Given the description of an element on the screen output the (x, y) to click on. 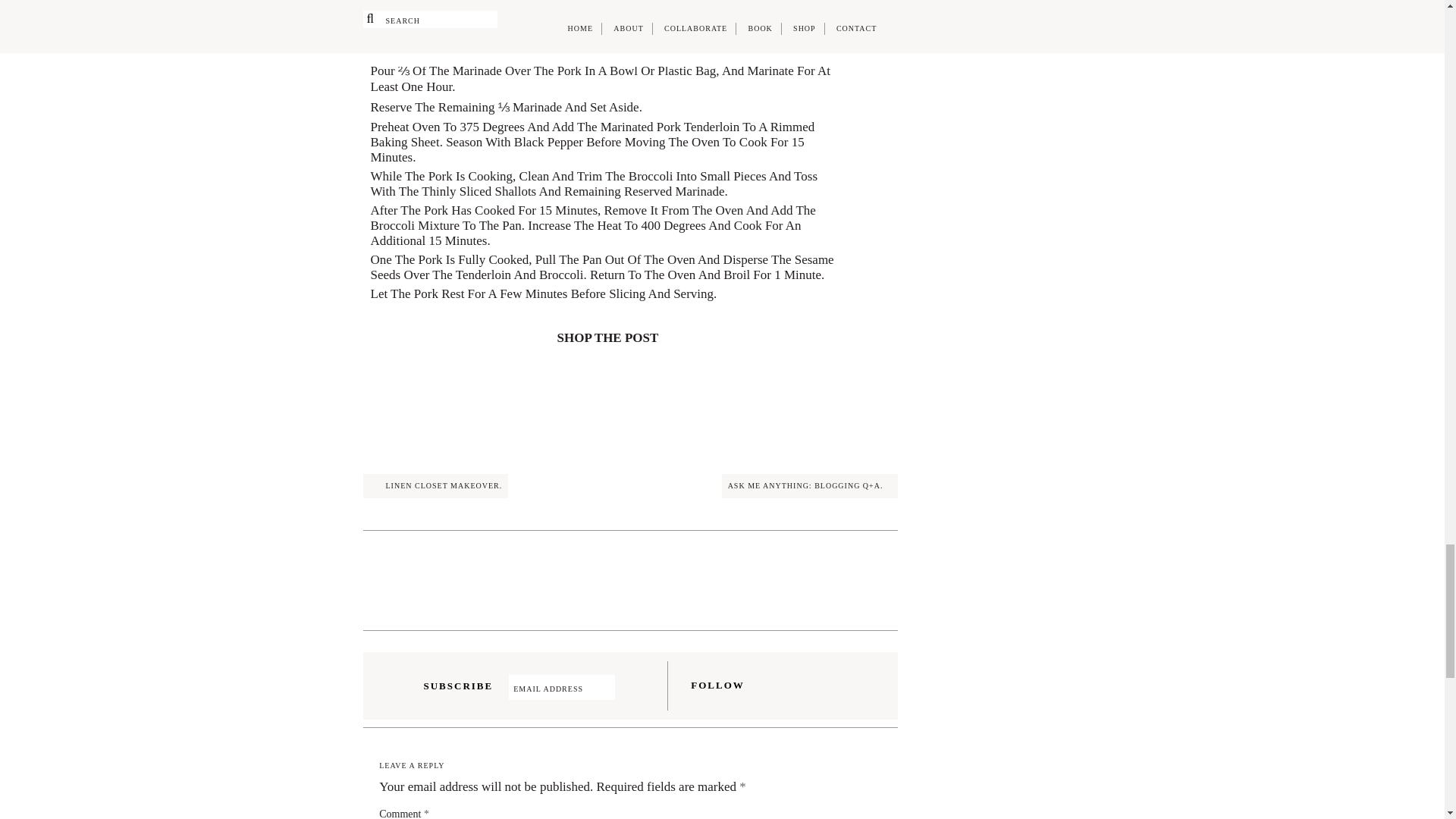
Subscribe (627, 687)
LINEN CLOSET MAKEOVER. (435, 485)
Subscribe (627, 687)
